Given the description of an element on the screen output the (x, y) to click on. 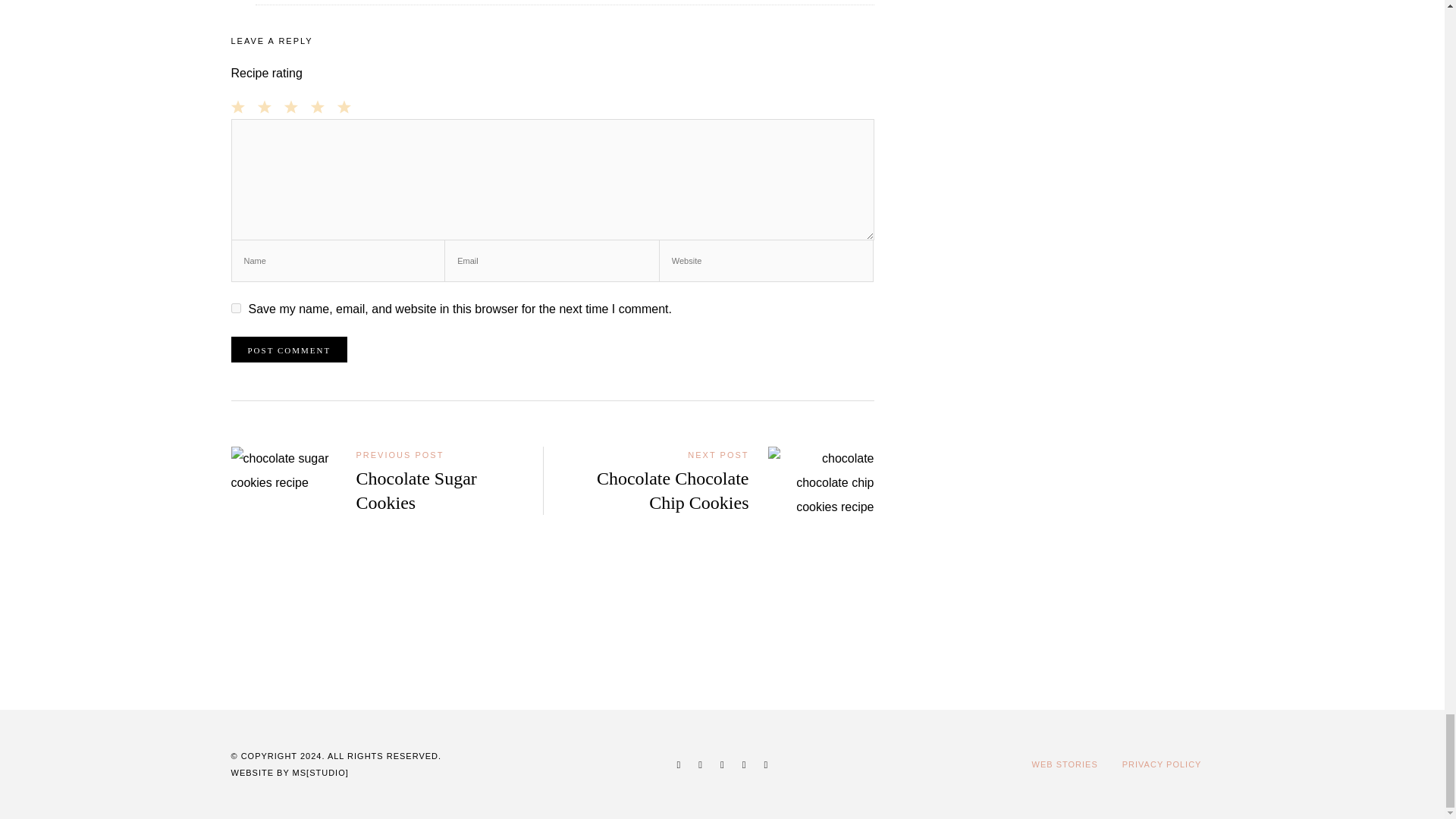
Pinterest (722, 764)
Post Comment (288, 349)
Facebook (679, 764)
Instagram (699, 764)
yes (235, 307)
